Given the description of an element on the screen output the (x, y) to click on. 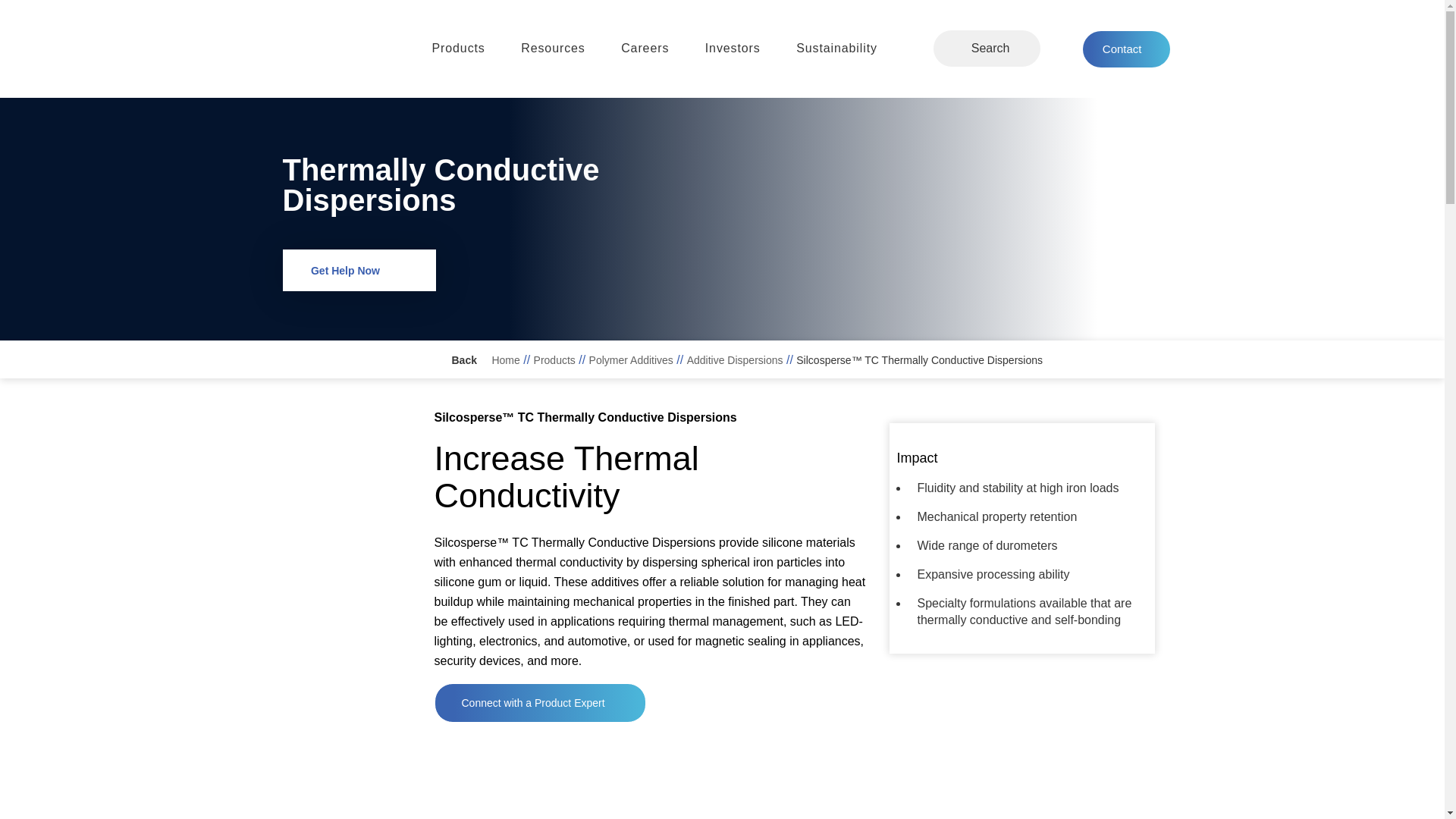
Search (1017, 47)
Contact (1126, 49)
Products (454, 48)
